Given the description of an element on the screen output the (x, y) to click on. 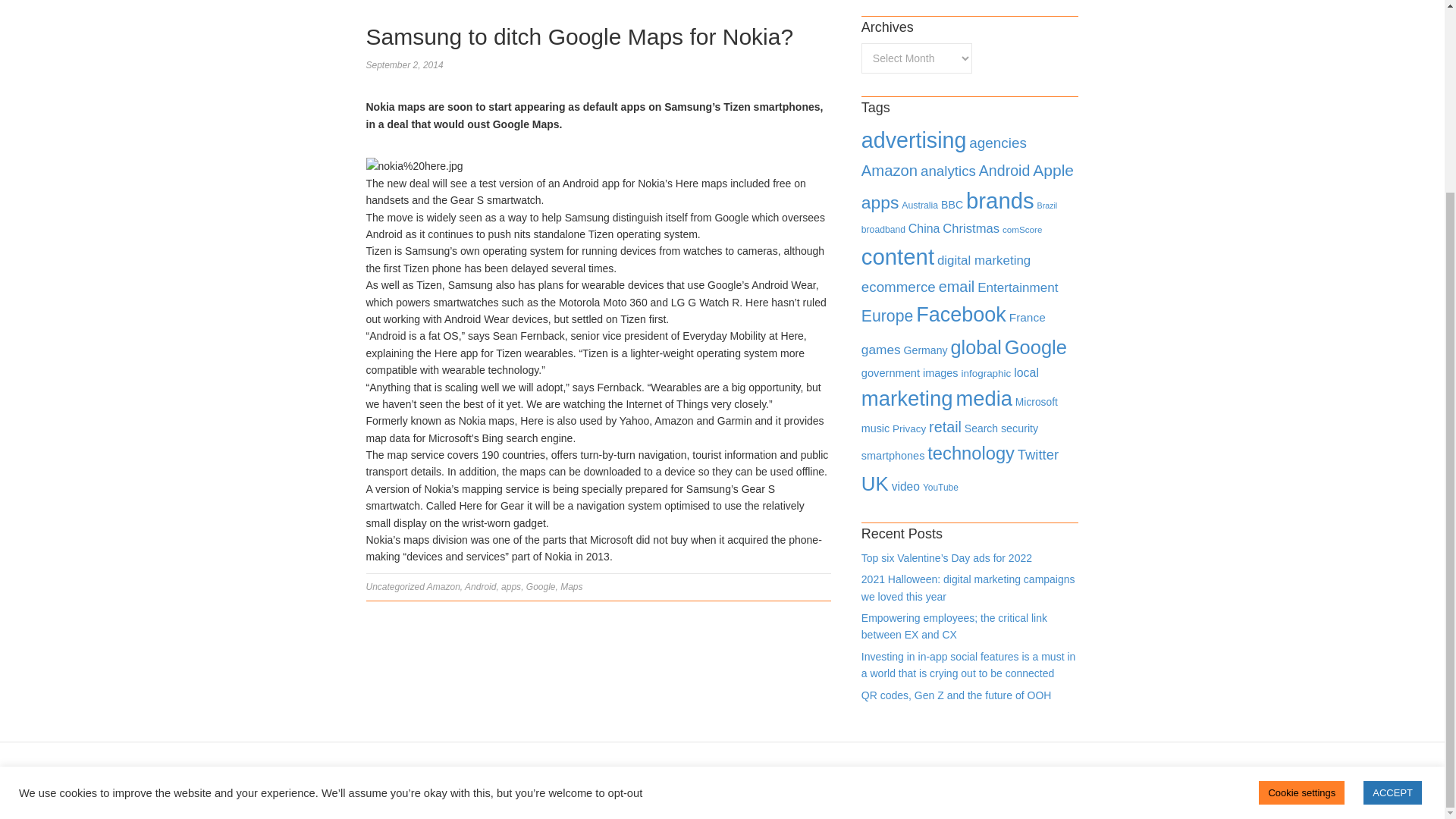
brands (999, 200)
Uncategorized (394, 586)
Apple (1053, 170)
Australia (919, 204)
Android (1003, 170)
advertising (913, 139)
Brazil (1047, 204)
broadband (883, 229)
Maps (571, 586)
apps (880, 202)
